Given the description of an element on the screen output the (x, y) to click on. 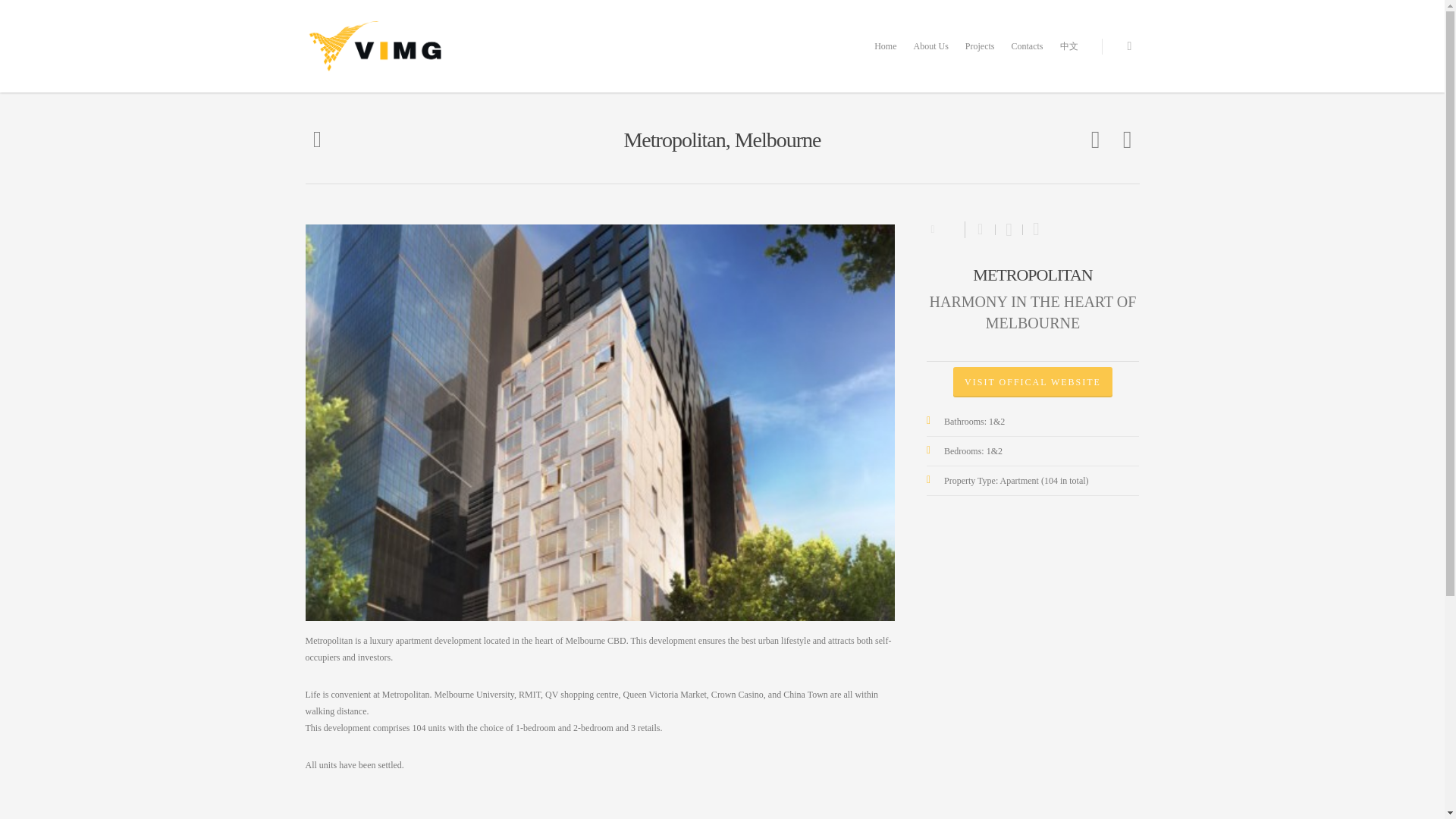
Love this (944, 227)
Tweet this (1009, 229)
Pin this (1032, 229)
Share this (980, 229)
VISIT OFFICAL WEBSITE (1032, 381)
